Given the description of an element on the screen output the (x, y) to click on. 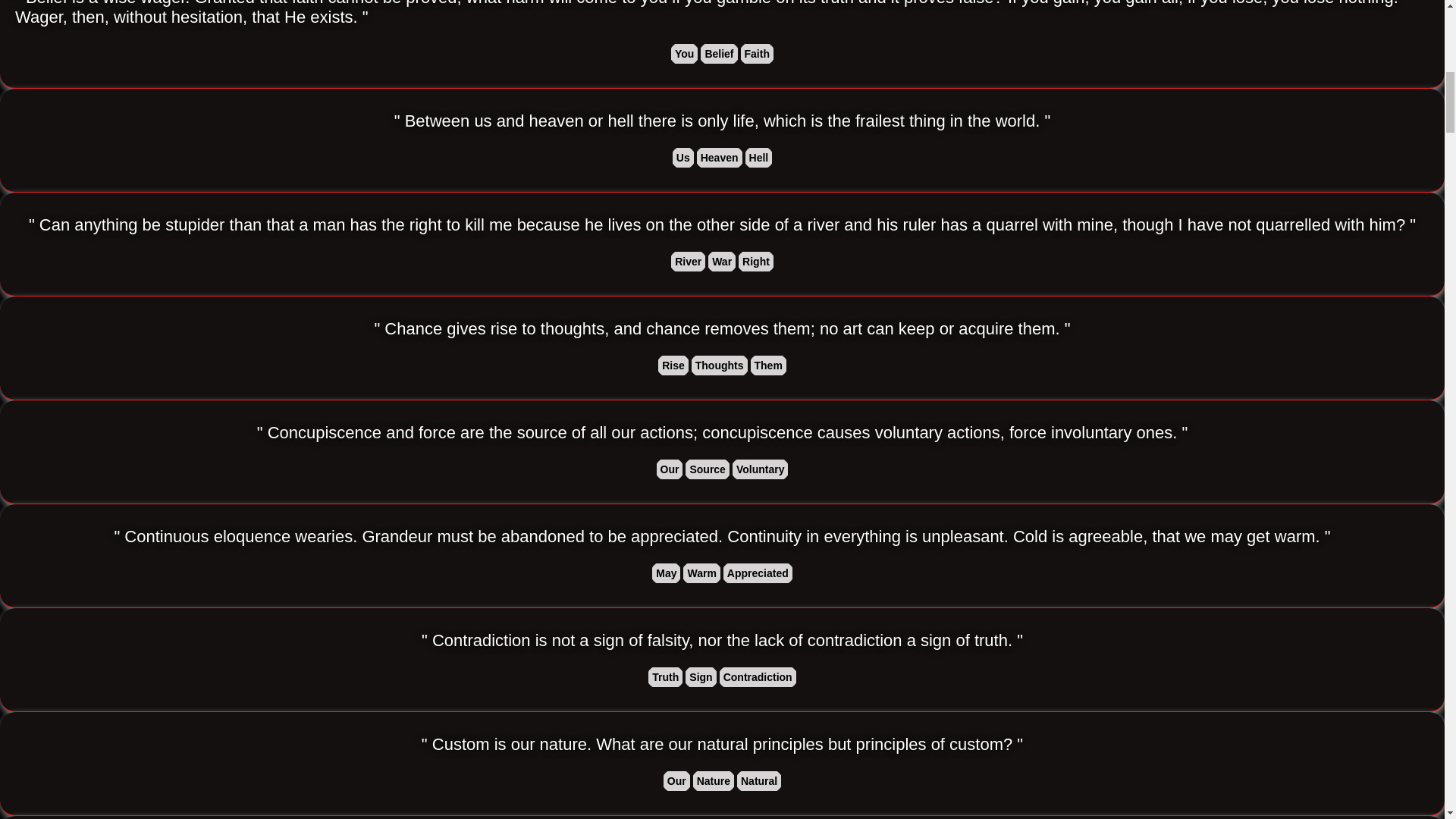
Belief (718, 53)
Heaven (719, 157)
Hell (759, 157)
River (687, 261)
Us (683, 157)
You (683, 53)
Faith (756, 53)
